Given the description of an element on the screen output the (x, y) to click on. 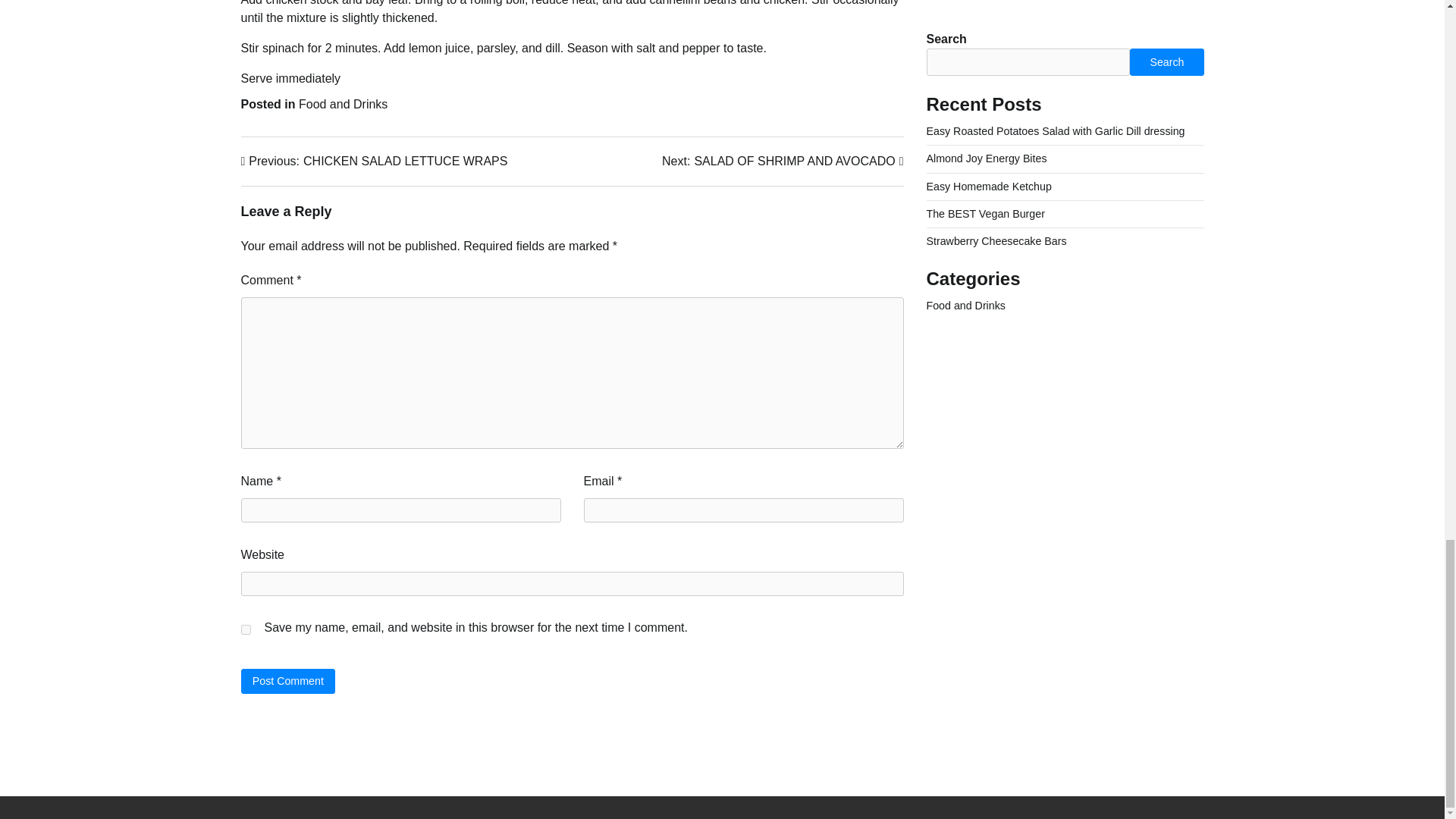
Post Comment (288, 681)
Post Comment (288, 681)
yes (374, 161)
Food and Drinks (782, 161)
